Given the description of an element on the screen output the (x, y) to click on. 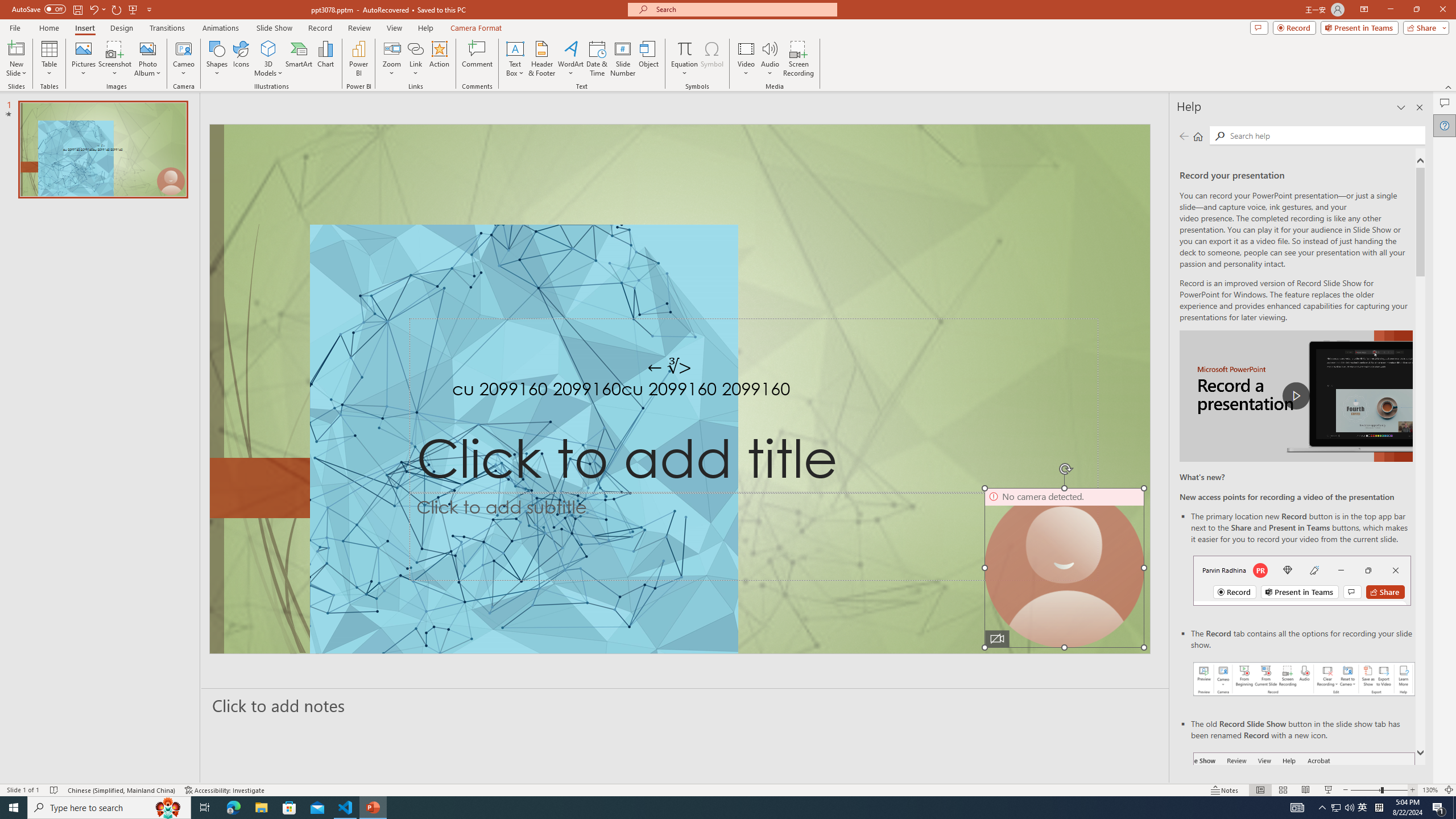
Link (415, 48)
Zoom 130% (1430, 790)
New Photo Album... (147, 48)
Slide Number (622, 58)
